Given the description of an element on the screen output the (x, y) to click on. 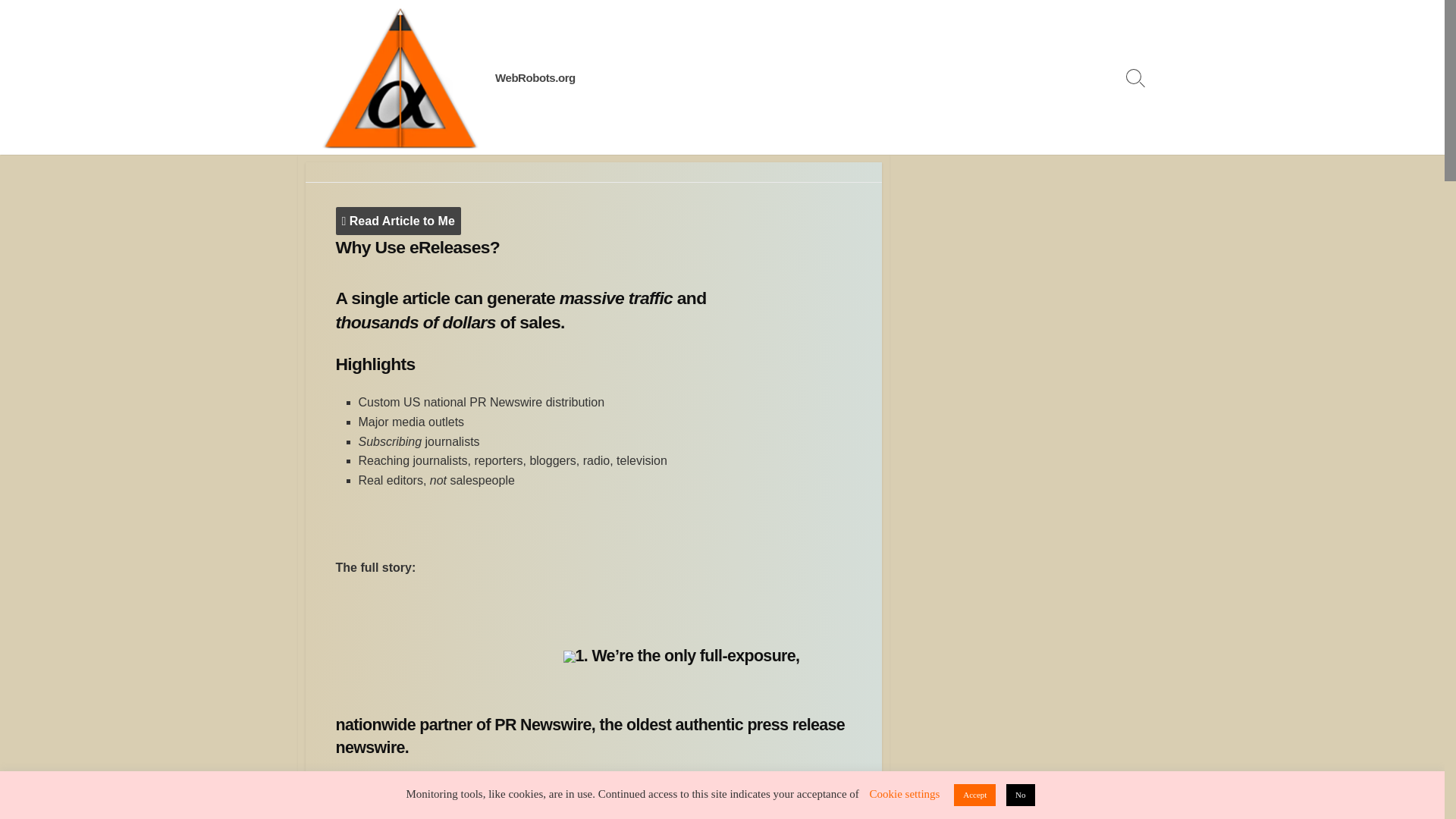
WebRobots.org (399, 77)
WebRobots.org (535, 77)
WebRobots.org (535, 77)
